Given the description of an element on the screen output the (x, y) to click on. 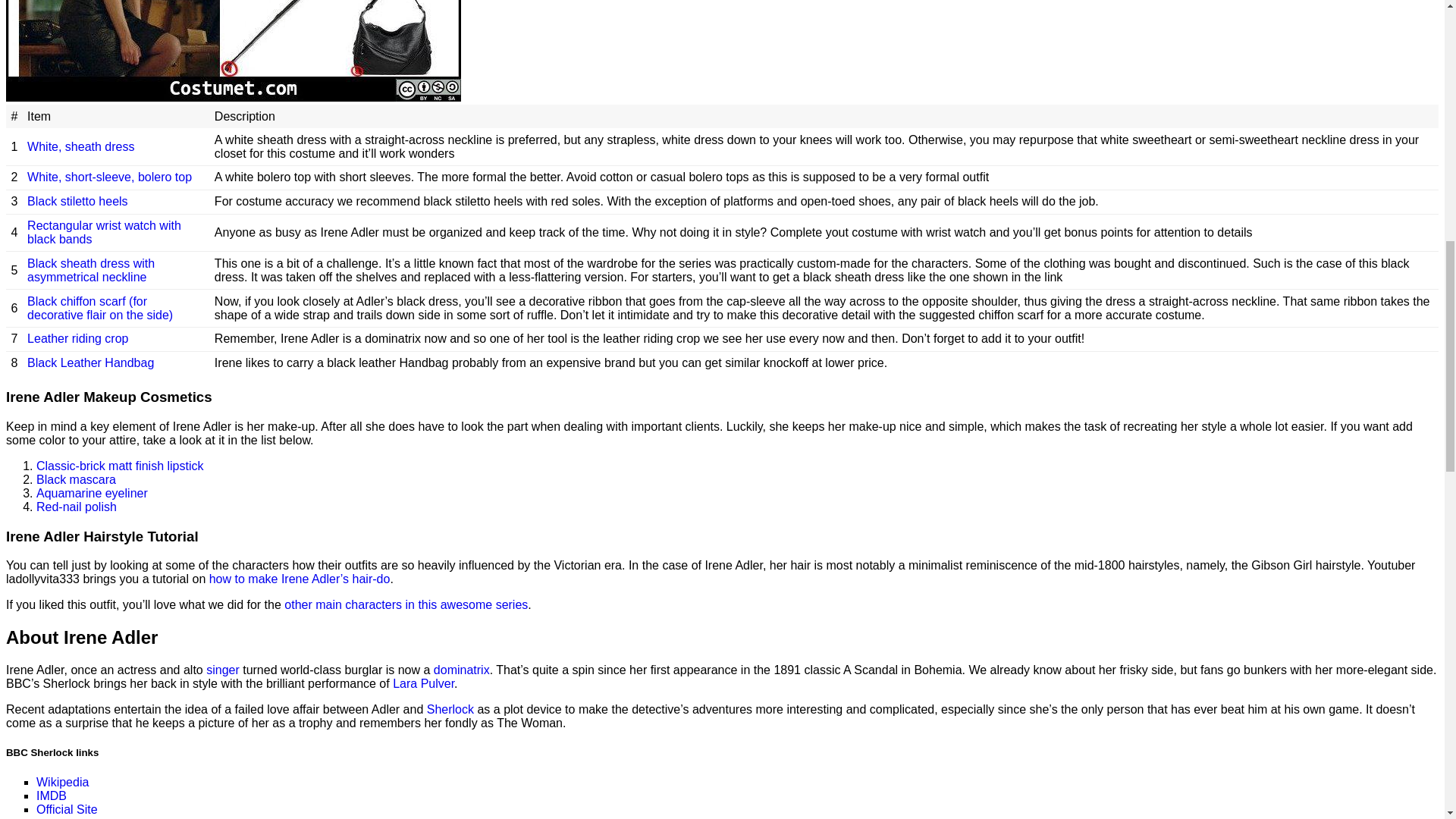
Wikipedia (62, 780)
Lara Pulver (423, 683)
Classic-brick matt finish lipstick (119, 465)
Black mascara (76, 479)
Black Leather Handbag (90, 362)
Black sheath dress with asymmetrical neckline (90, 270)
Aquamarine eyeliner (92, 492)
Sherlock (450, 708)
IMDB (51, 794)
Rectangular wrist watch with black bands (103, 232)
Black stiletto heels (77, 201)
Official Site (66, 808)
other main characters in this awesome series (405, 604)
Red-nail polish (76, 506)
White, short-sleeve, bolero top (109, 176)
